Given the description of an element on the screen output the (x, y) to click on. 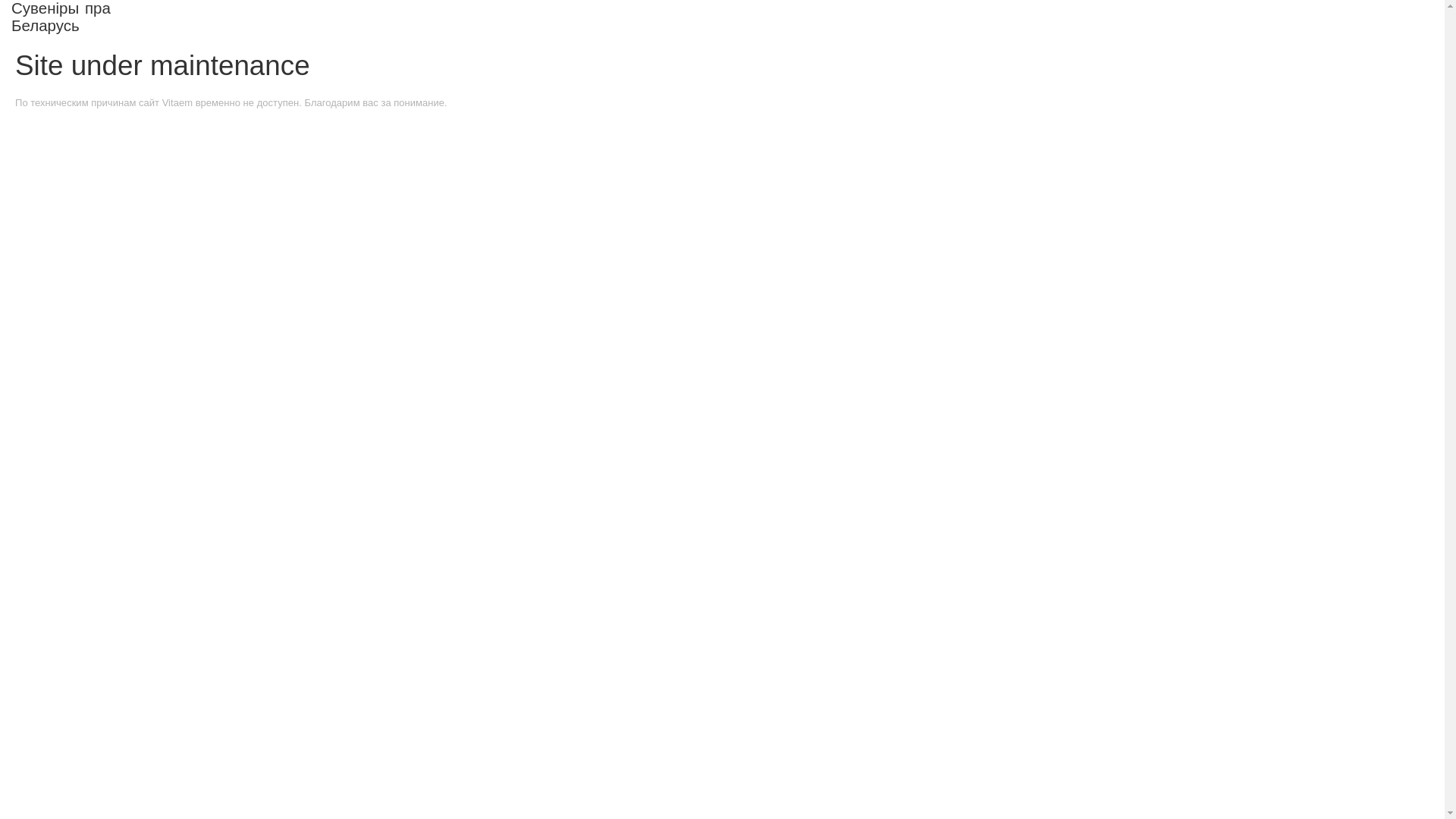
Skip to main content Element type: text (676, 1)
